Given the description of an element on the screen output the (x, y) to click on. 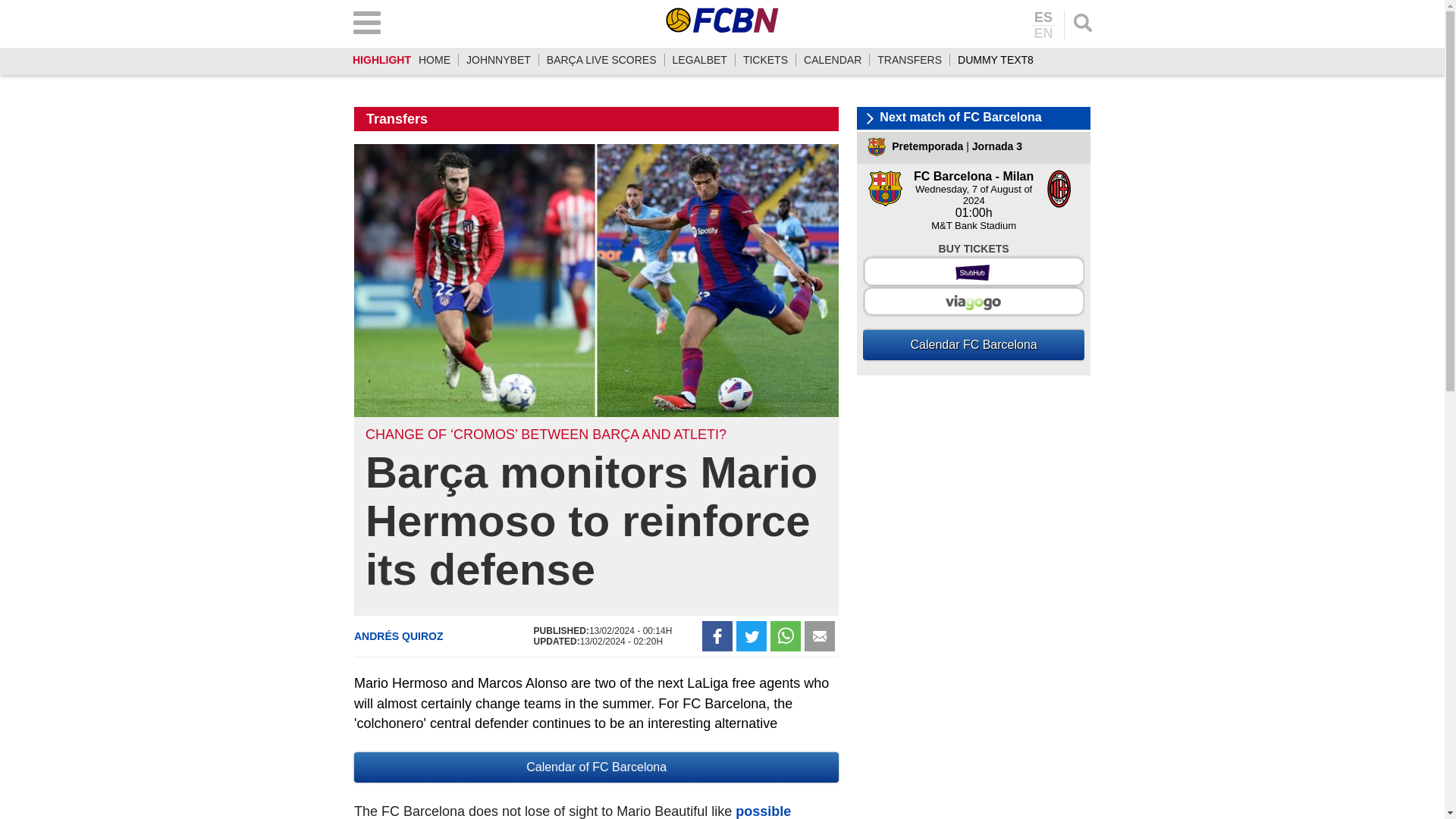
Calendar of FC Barcelona (595, 767)
LEGALBET (699, 60)
CALENDAR (832, 60)
Transfers (397, 118)
Home (434, 60)
TRANSFERS (909, 60)
FCBN (721, 19)
TICKETS (764, 60)
LEGALBET (699, 60)
CALENDAR (832, 60)
